Given the description of an element on the screen output the (x, y) to click on. 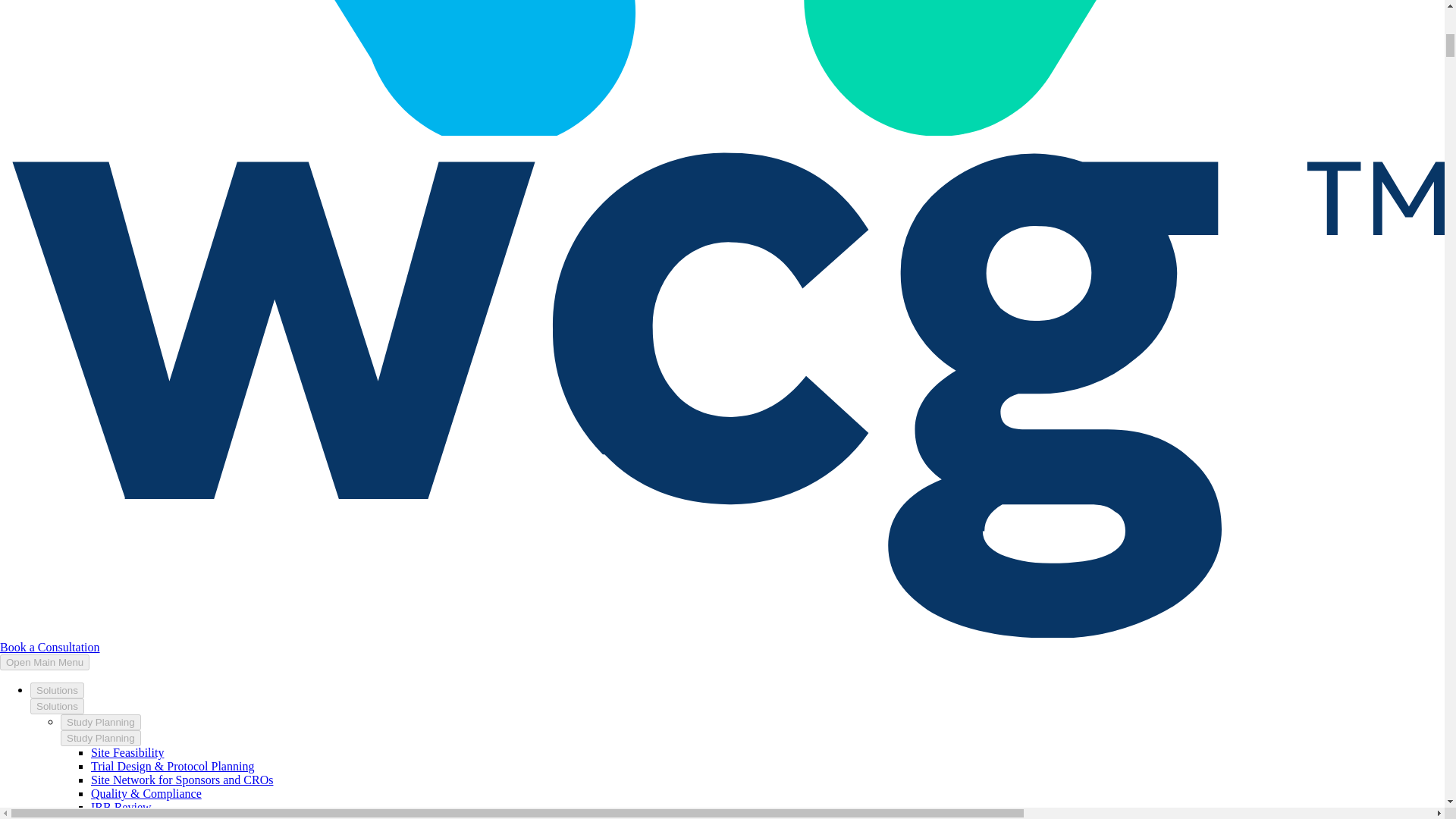
Open Main Menu (44, 662)
IRB Review (120, 807)
IBC Review (120, 816)
Solutions (57, 706)
Site Network for Sponsors and CROs (181, 779)
Study Planning (101, 738)
Study Planning (101, 722)
Site Feasibility (126, 752)
Solutions (57, 690)
Book a Consultation (50, 646)
